Given the description of an element on the screen output the (x, y) to click on. 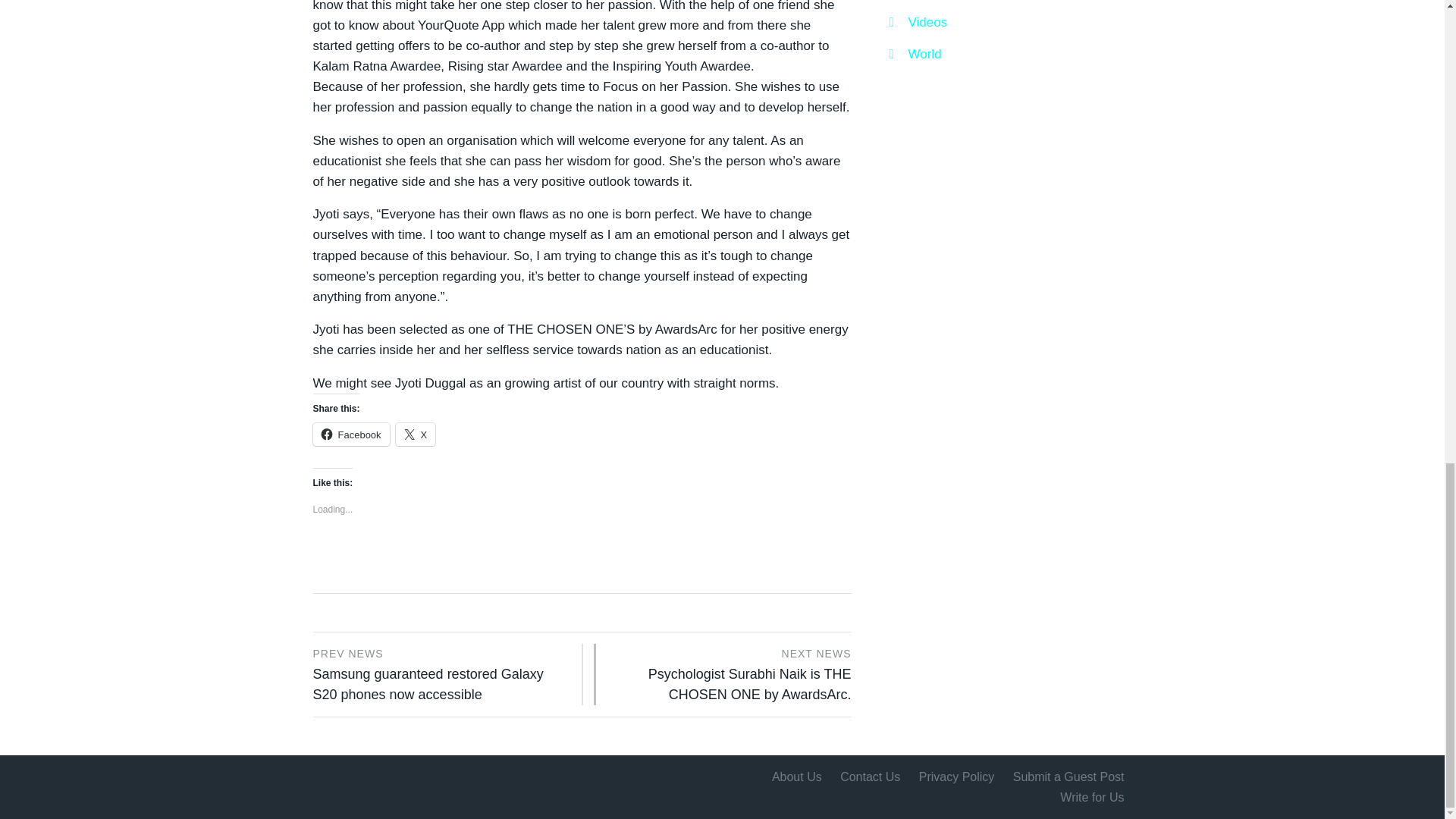
Click to share on X (415, 434)
X (415, 434)
Facebook (350, 434)
Click to share on Facebook (350, 434)
